Given the description of an element on the screen output the (x, y) to click on. 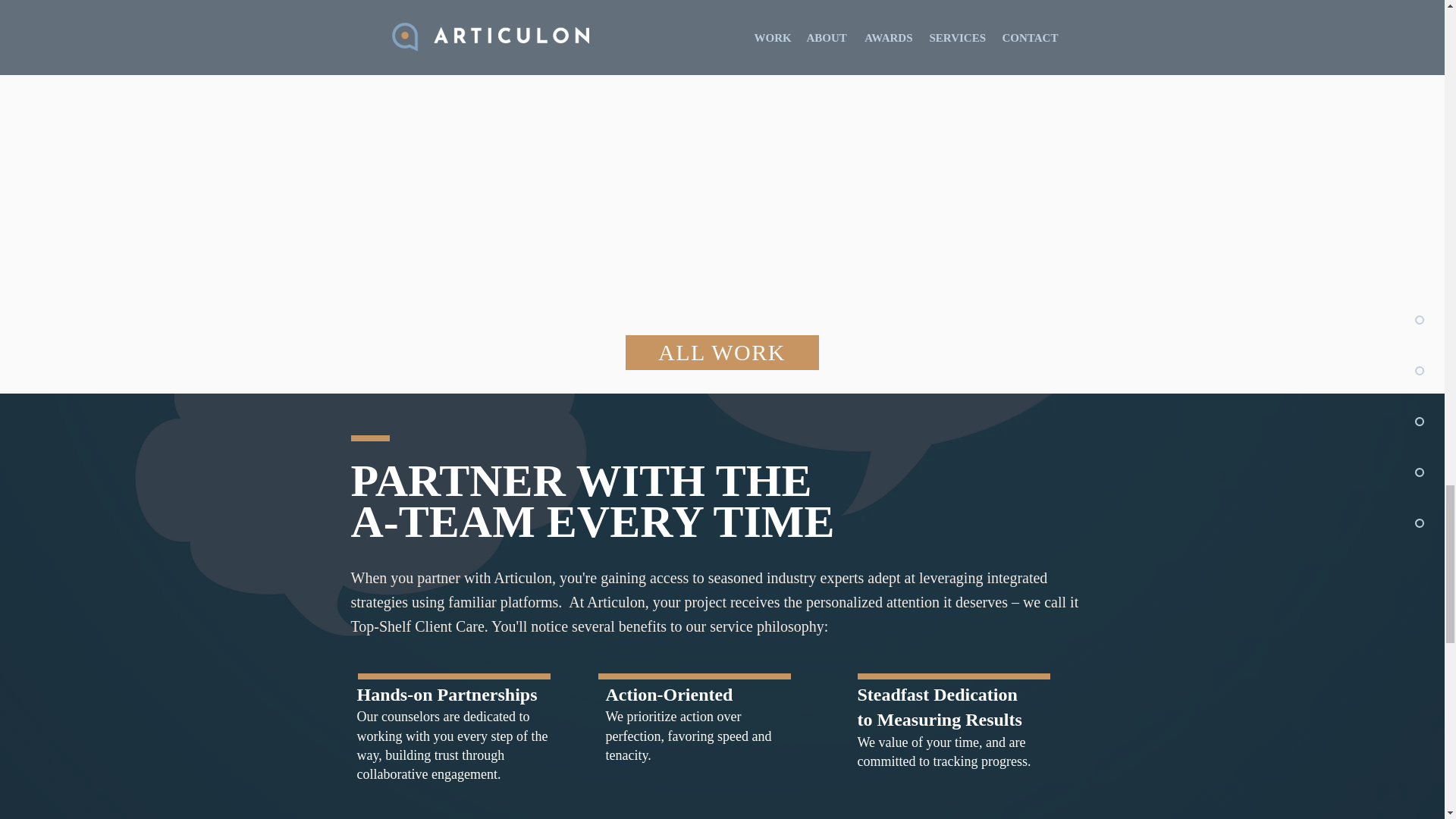
ALL WORK (721, 352)
